Given the description of an element on the screen output the (x, y) to click on. 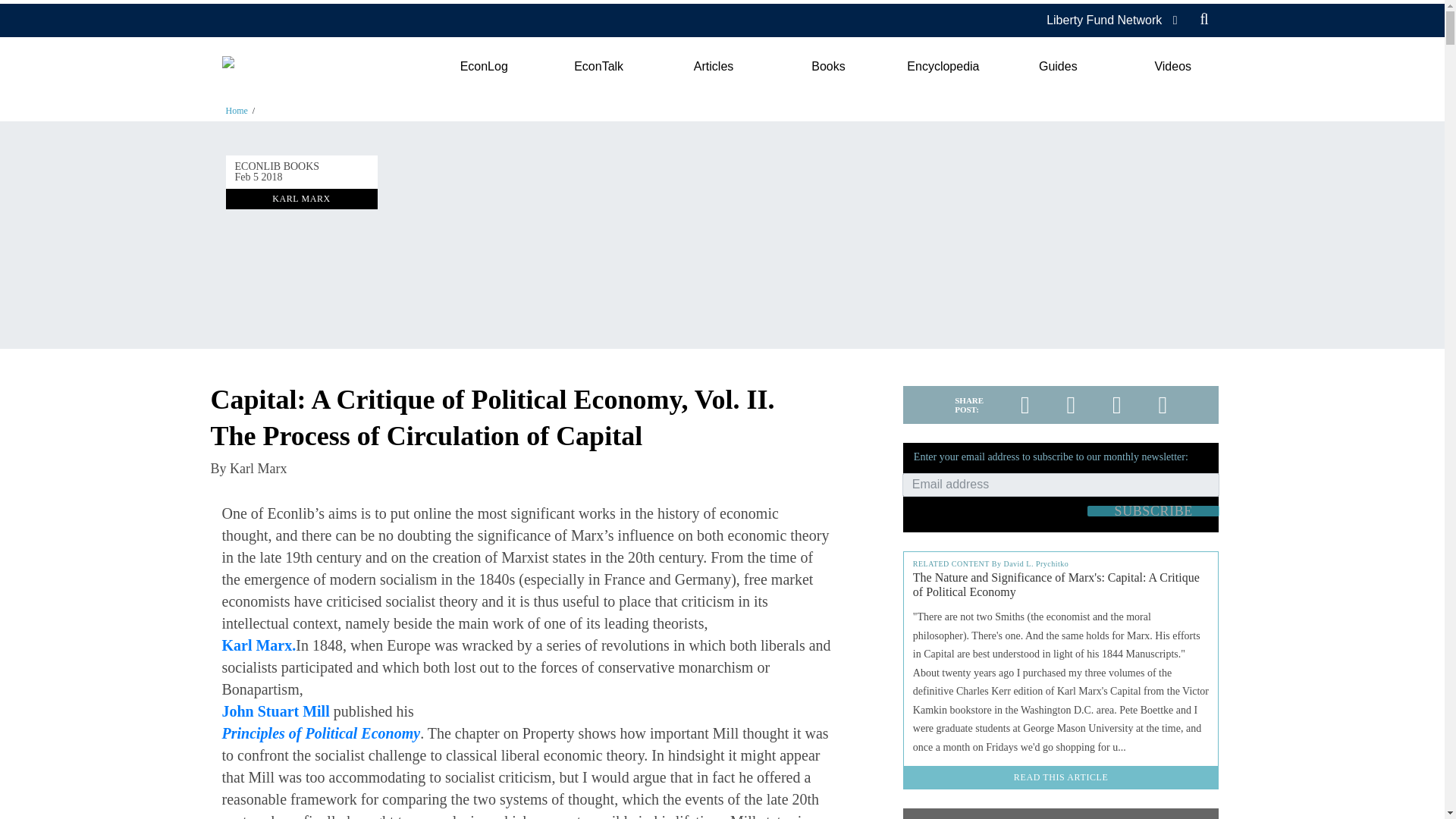
Encyclopedia (942, 66)
Subscribe (1153, 511)
EconTalk (598, 66)
EconLog (483, 66)
Articles (713, 66)
Books (828, 66)
Liberty Fund Network (1104, 20)
